Given the description of an element on the screen output the (x, y) to click on. 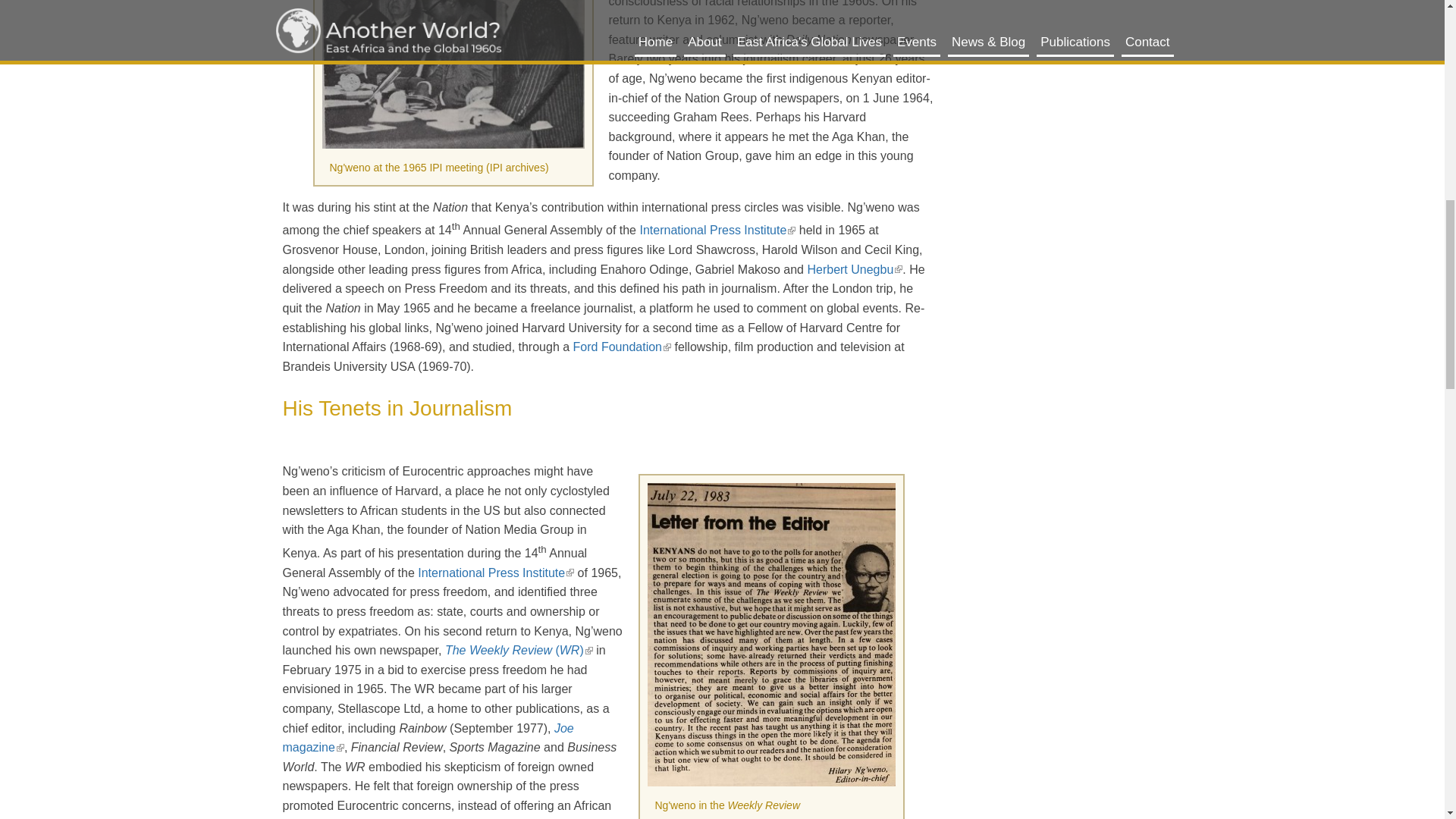
International Press Institute (495, 572)
Joe magazine (427, 737)
Ford Foundation (622, 346)
International Press Institute (716, 230)
Herbert Unegbu (854, 269)
